Given the description of an element on the screen output the (x, y) to click on. 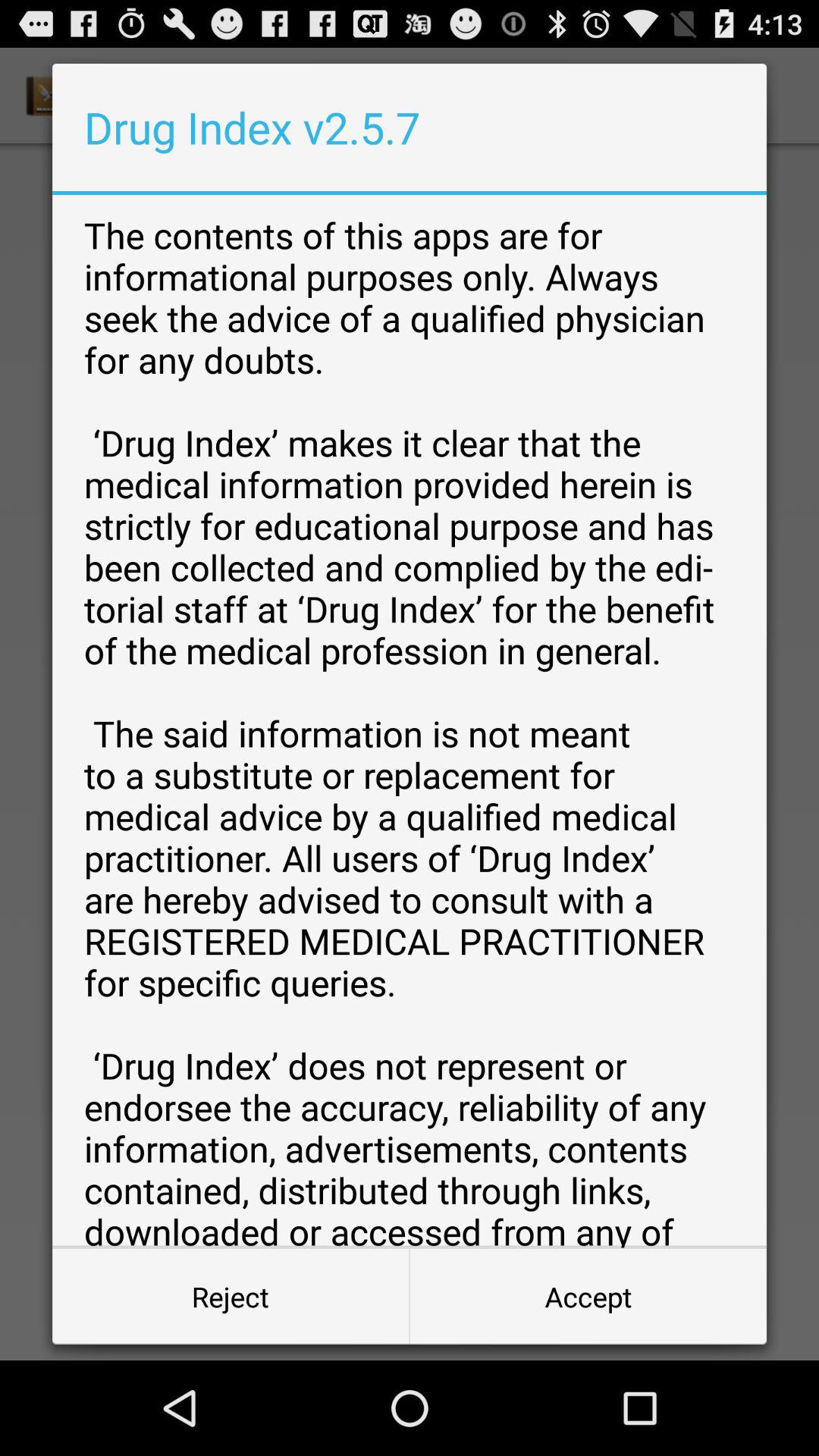
scroll to the accept item (588, 1296)
